Given the description of an element on the screen output the (x, y) to click on. 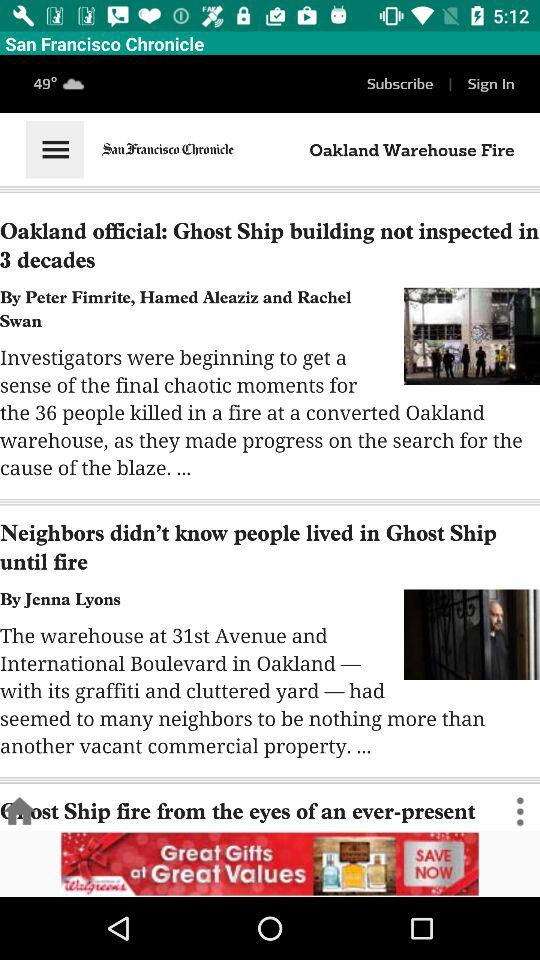
open an advertisements (270, 864)
